Given the description of an element on the screen output the (x, y) to click on. 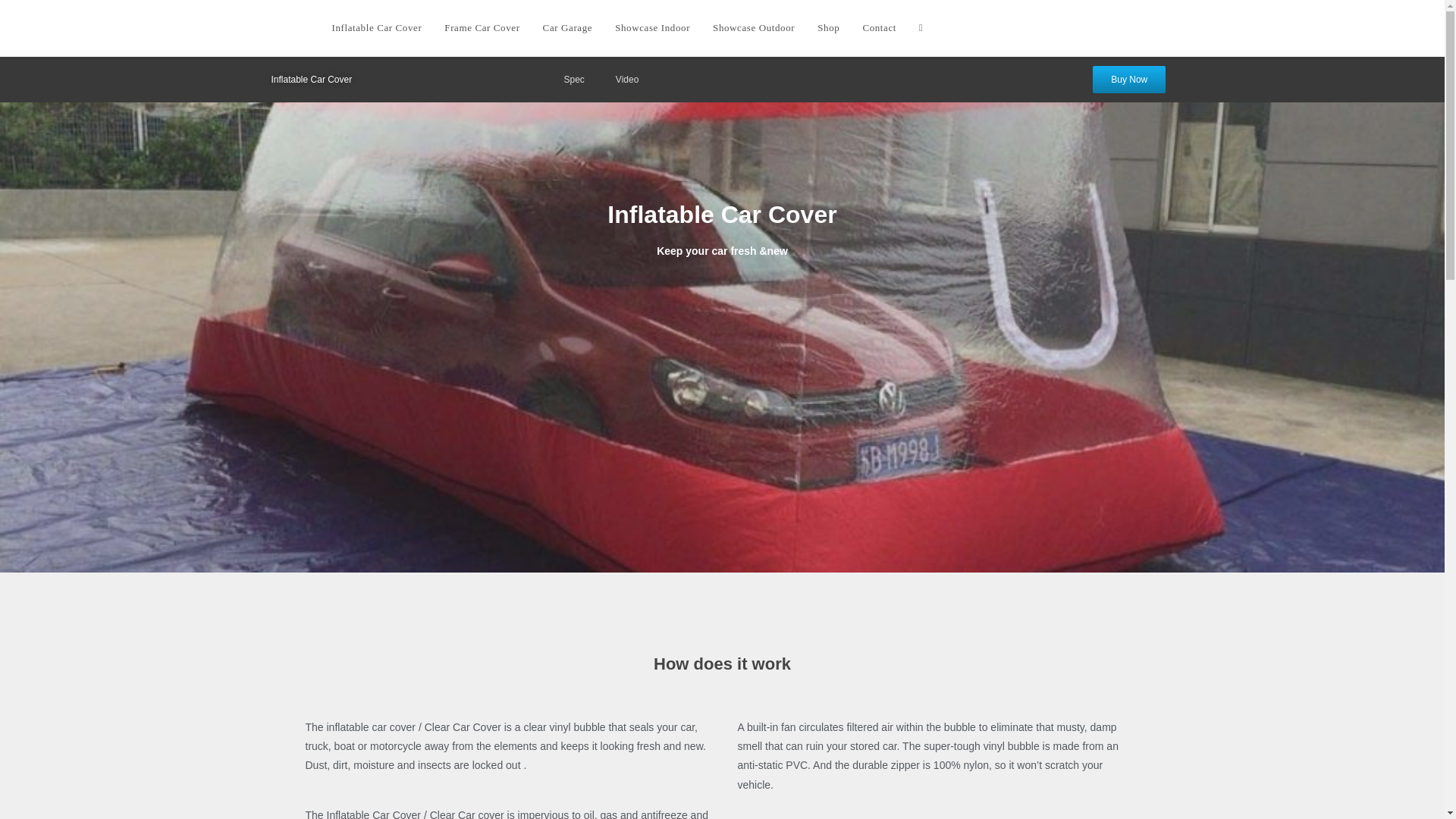
Contact (878, 28)
Showcase Indoor (652, 28)
Car Garage (567, 28)
Inflatable Car Cover (310, 79)
Video (626, 79)
Spec (573, 79)
Frame Car Cover (481, 28)
Buy Now (1129, 79)
Inflatable Car Cover (376, 28)
Showcase Outdoor (753, 28)
